Given the description of an element on the screen output the (x, y) to click on. 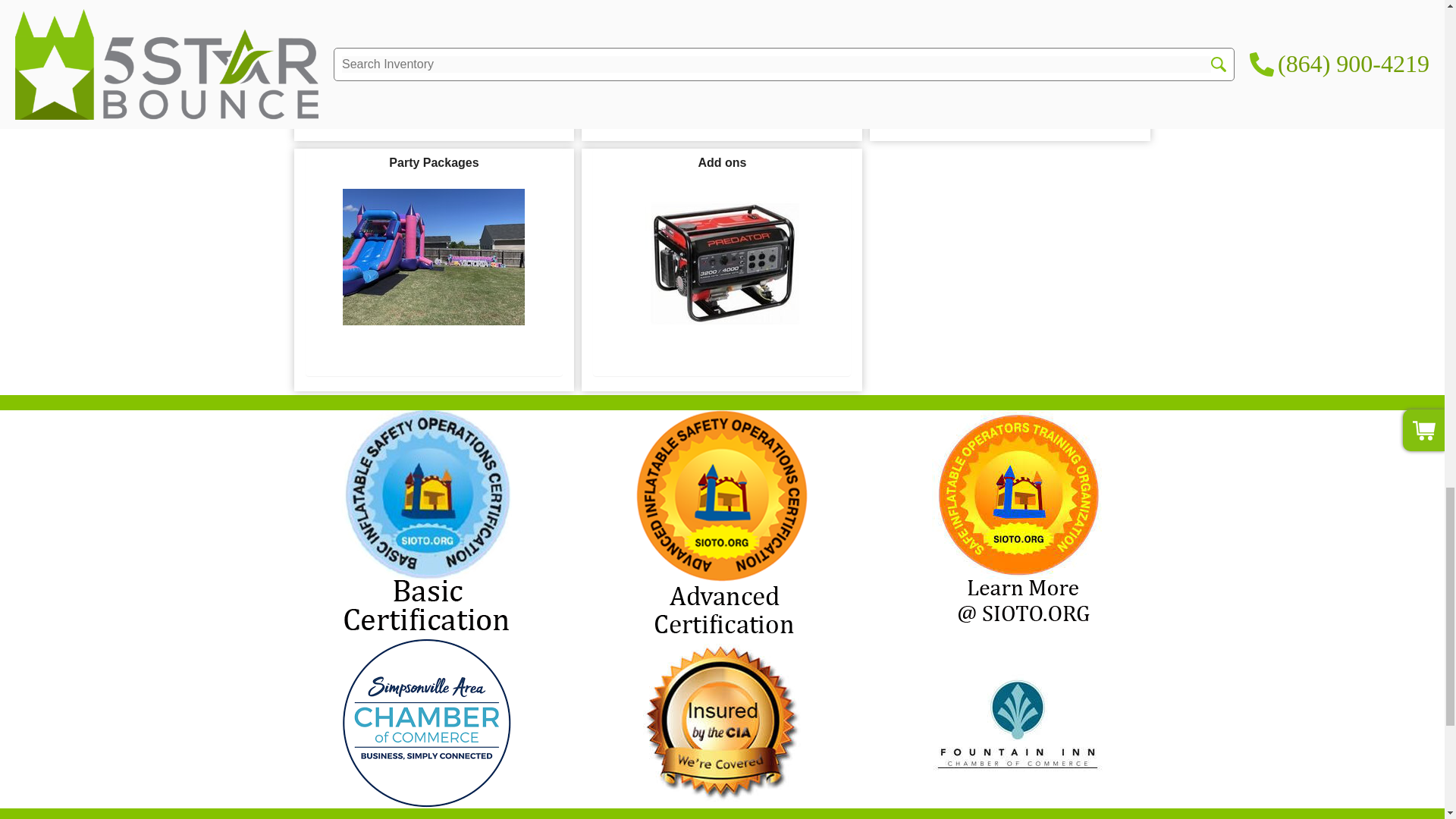
Yard Cards (1009, 37)
Add ons (722, 257)
Dry Units (722, 37)
Wet Units (433, 29)
Party Packages (433, 257)
